Given the description of an element on the screen output the (x, y) to click on. 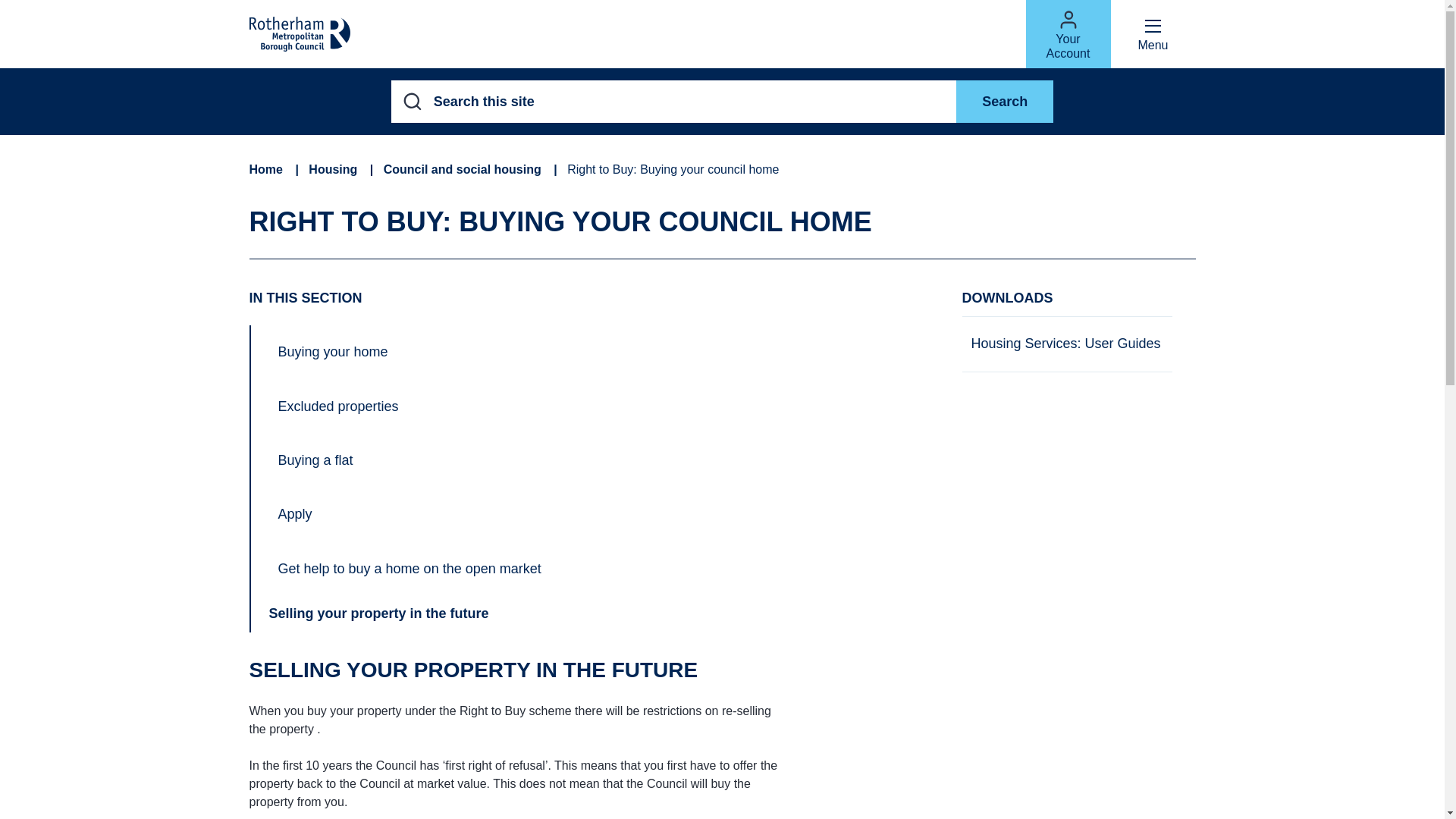
Menu (1152, 33)
Apply (293, 514)
Your Account (1067, 33)
Get help to buy a home on the open market (408, 569)
Housing (332, 169)
Rotherham Metropolitan Borough Council Home Page (298, 33)
Buying your home (331, 352)
Excluded properties (337, 407)
Council and social housing (462, 169)
Home (265, 169)
